Given the description of an element on the screen output the (x, y) to click on. 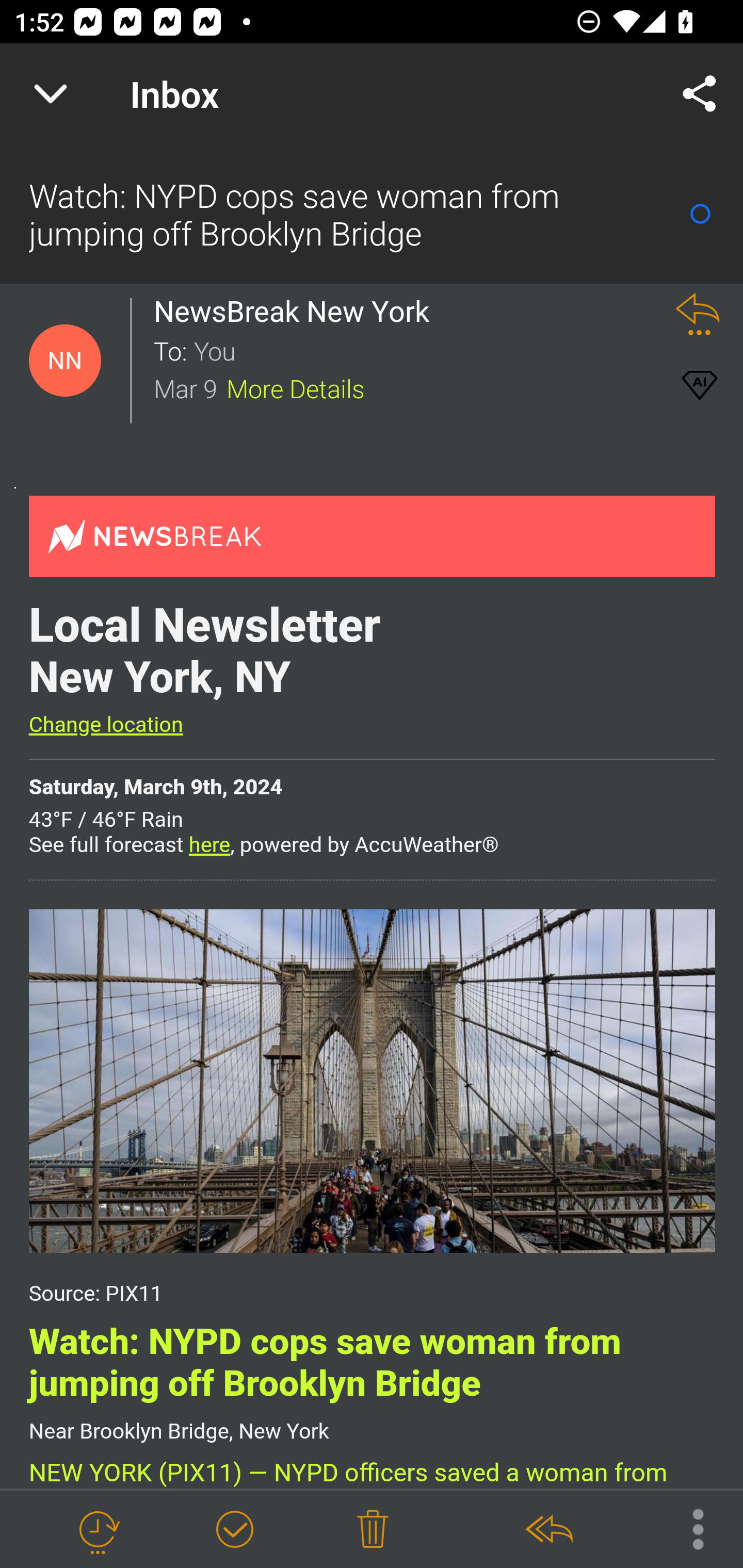
Navigate up (50, 93)
Share (699, 93)
Mark as Read (699, 213)
NewsBreak New York (296, 310)
Contact Details (64, 360)
You (422, 349)
More Details (295, 387)
Change location (105, 724)
here (209, 845)
1 local news image (371, 1079)
More Options (687, 1528)
Snooze (97, 1529)
Mark as Done (234, 1529)
Delete (372, 1529)
Reply All (548, 1529)
